Given the description of an element on the screen output the (x, y) to click on. 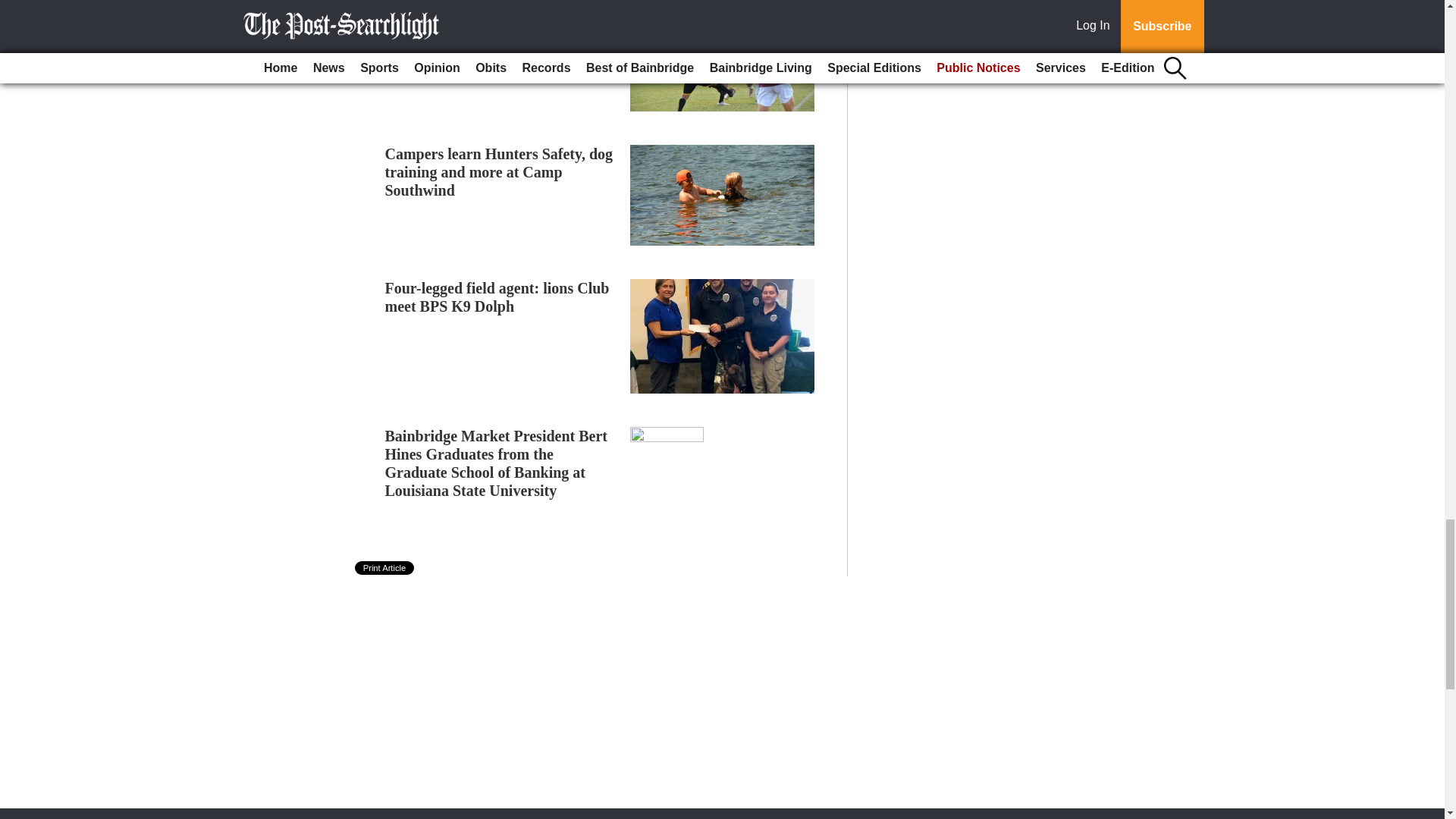
Four-legged field agent: lions Club meet BPS K9 Dolph (497, 297)
